Given the description of an element on the screen output the (x, y) to click on. 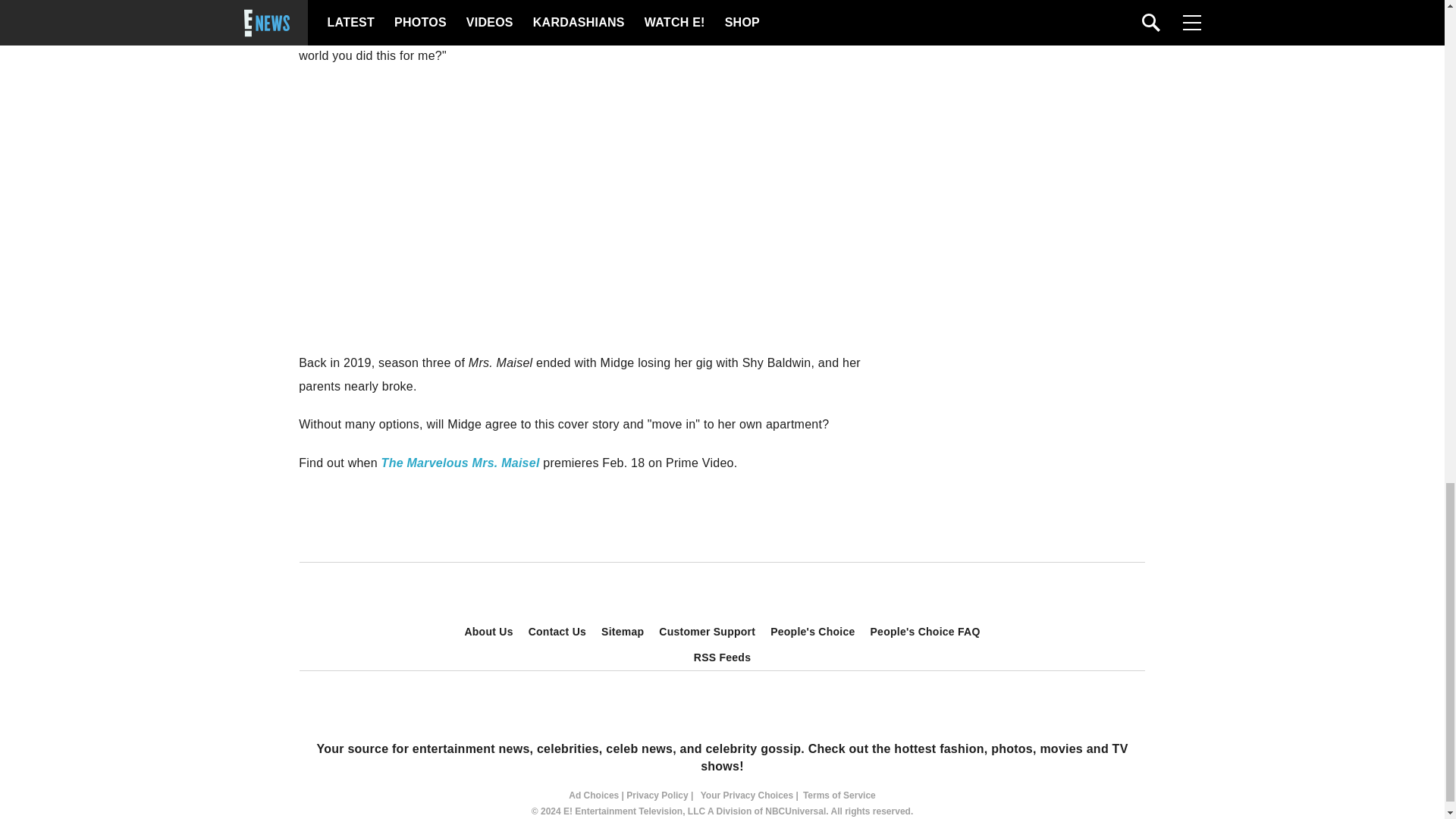
The Marvelous Mrs. Maisel (460, 462)
